Given the description of an element on the screen output the (x, y) to click on. 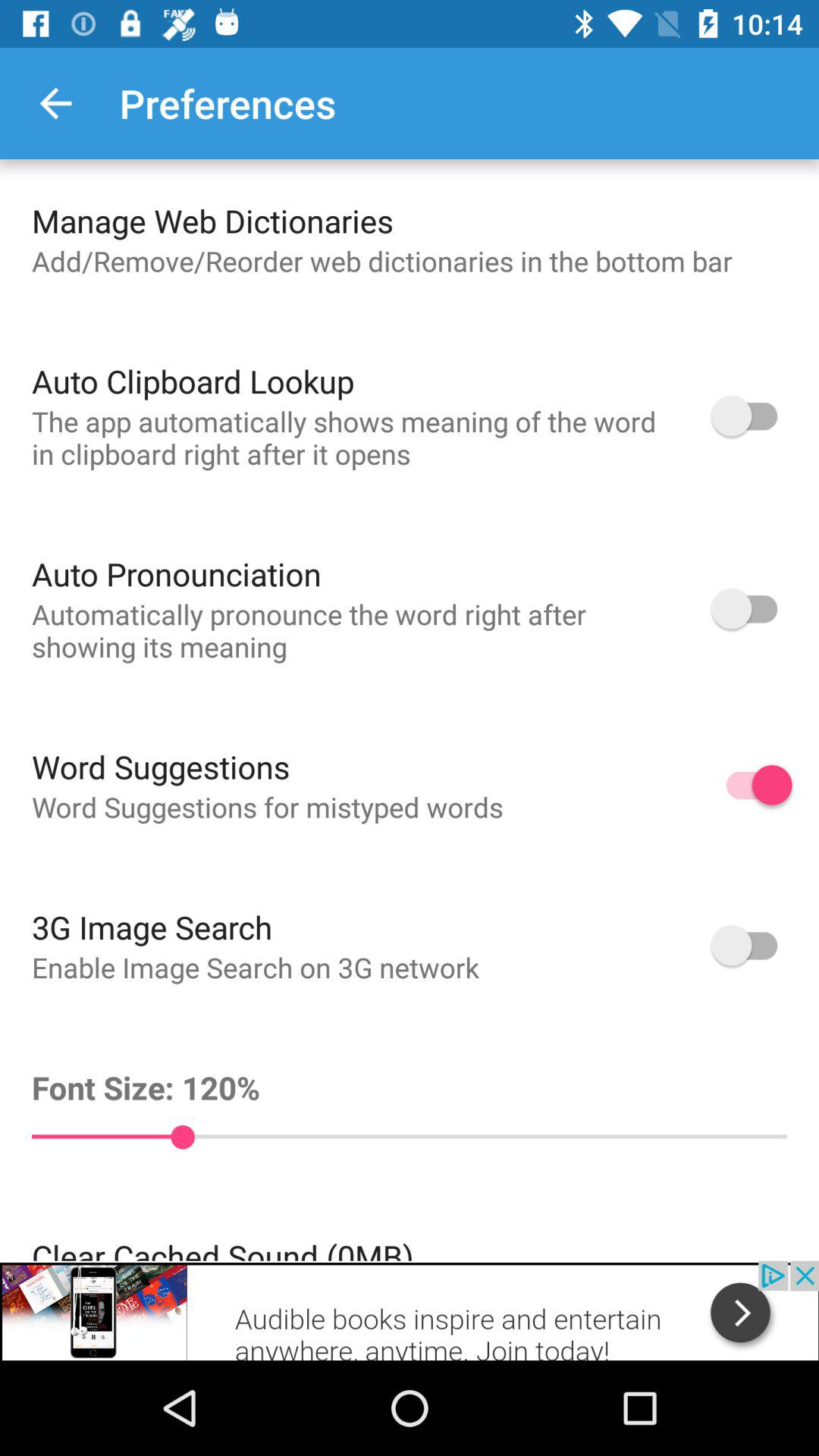
see the advertisement (409, 1310)
